Given the description of an element on the screen output the (x, y) to click on. 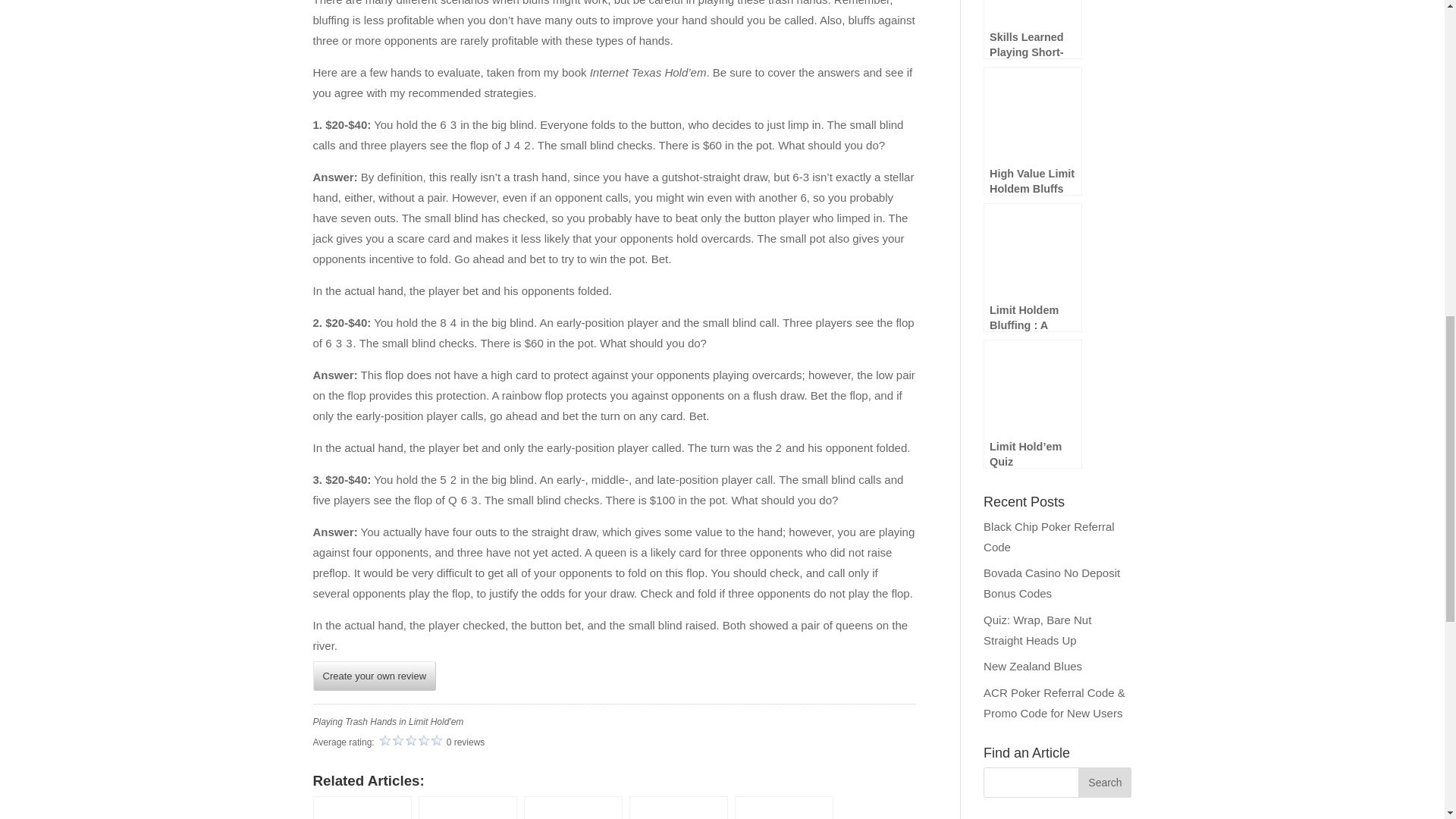
High Value Limit Holdem Bluffs (678, 807)
Some Pot-Limit Omaha Hands (361, 807)
Search (1104, 782)
Skills Learned Playing Short-Handed Limit Holdem (573, 807)
Limit Holdem Bluffing : A Version of the Delayed Bluff (783, 807)
Raising Draws for Value in Limit Holdem (467, 807)
Raising Draws for Value in Limit Holdem (467, 807)
High Value Limit Holdem Bluffs (678, 807)
Limit Holdem Bluffing : A Version of the Delayed Bluff (783, 807)
Some Pot-Limit Omaha Hands (361, 807)
